Given the description of an element on the screen output the (x, y) to click on. 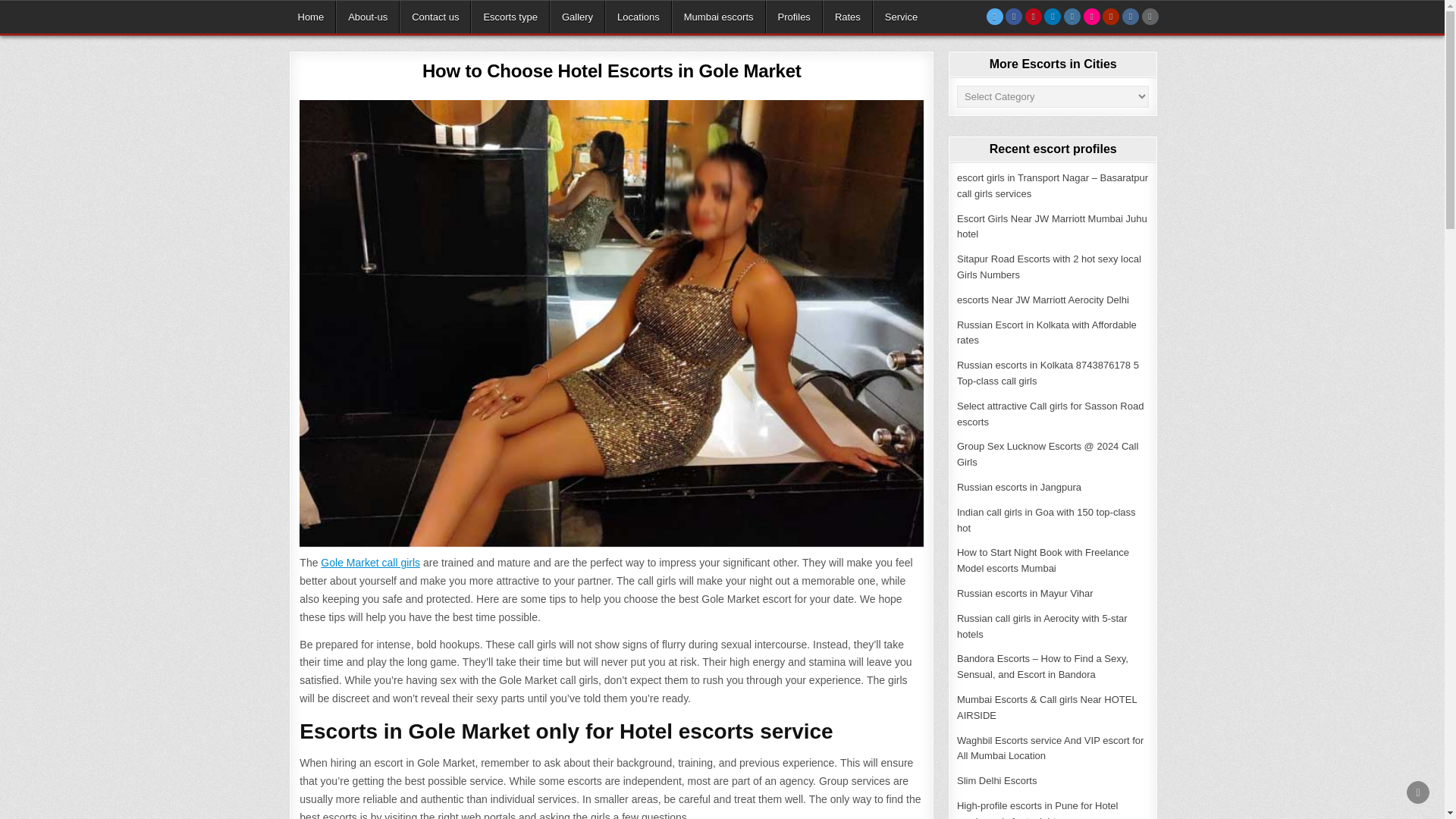
SCROLL TO TOP (1417, 792)
escorts Near JW Marriott Aerocity Delhi (1042, 299)
Escorts type (510, 16)
Service (900, 16)
Home (311, 16)
Locations (638, 16)
Russian Escort in Kolkata with Affordable rates (1046, 332)
About-us (367, 16)
Contact us (434, 16)
How to Choose Hotel Escorts in Gole Market (612, 70)
Select attractive Call girls for Sasson Road escorts (1049, 413)
Russian escorts in Jangpura (1018, 487)
Gole Market call girls (370, 562)
Escort Girls Near JW Marriott Mumbai Juhu hotel (1051, 226)
Profiles (793, 16)
